Given the description of an element on the screen output the (x, y) to click on. 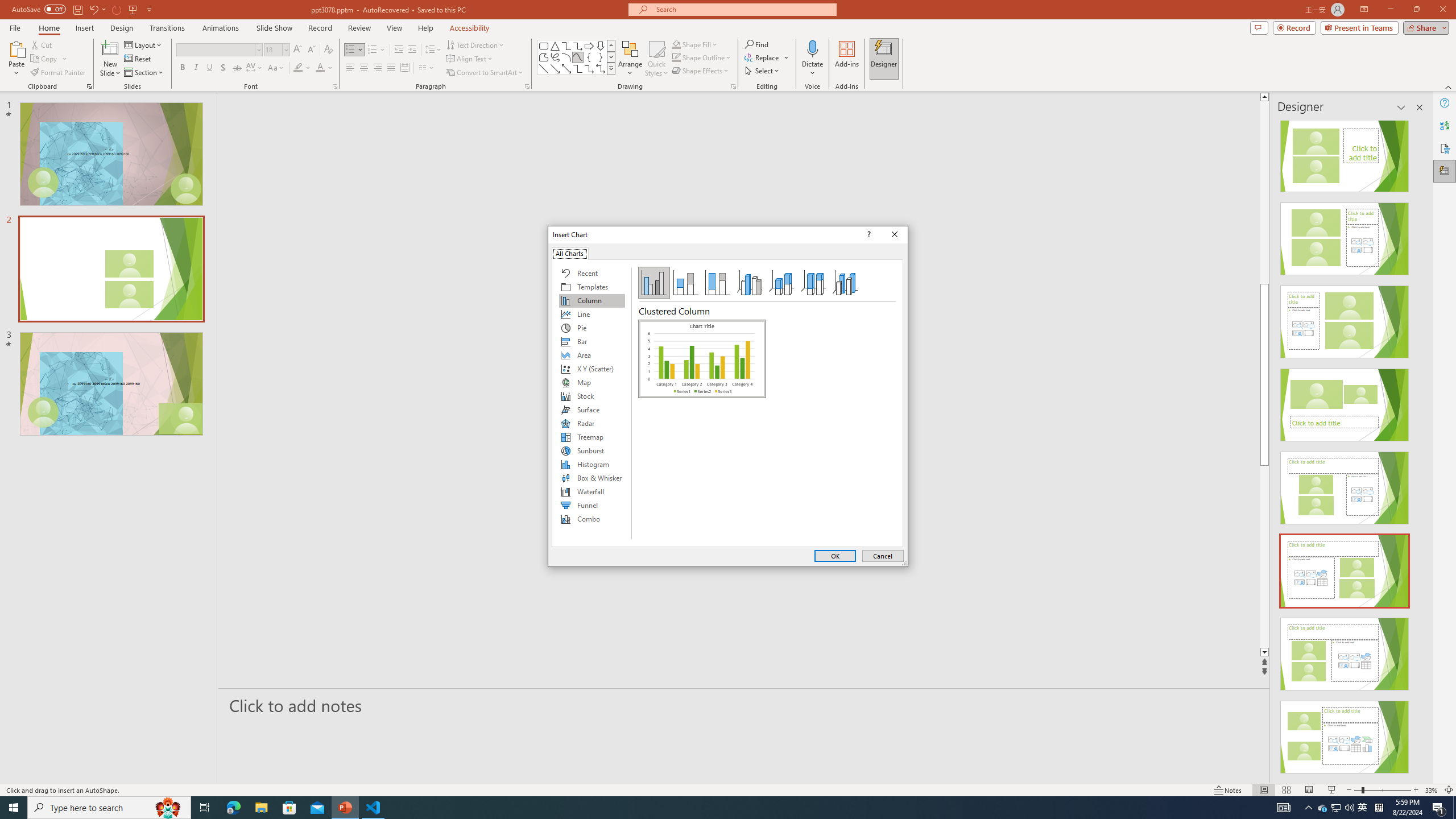
Shape Fill Dark Green, Accent 2 (675, 44)
